Given the description of an element on the screen output the (x, y) to click on. 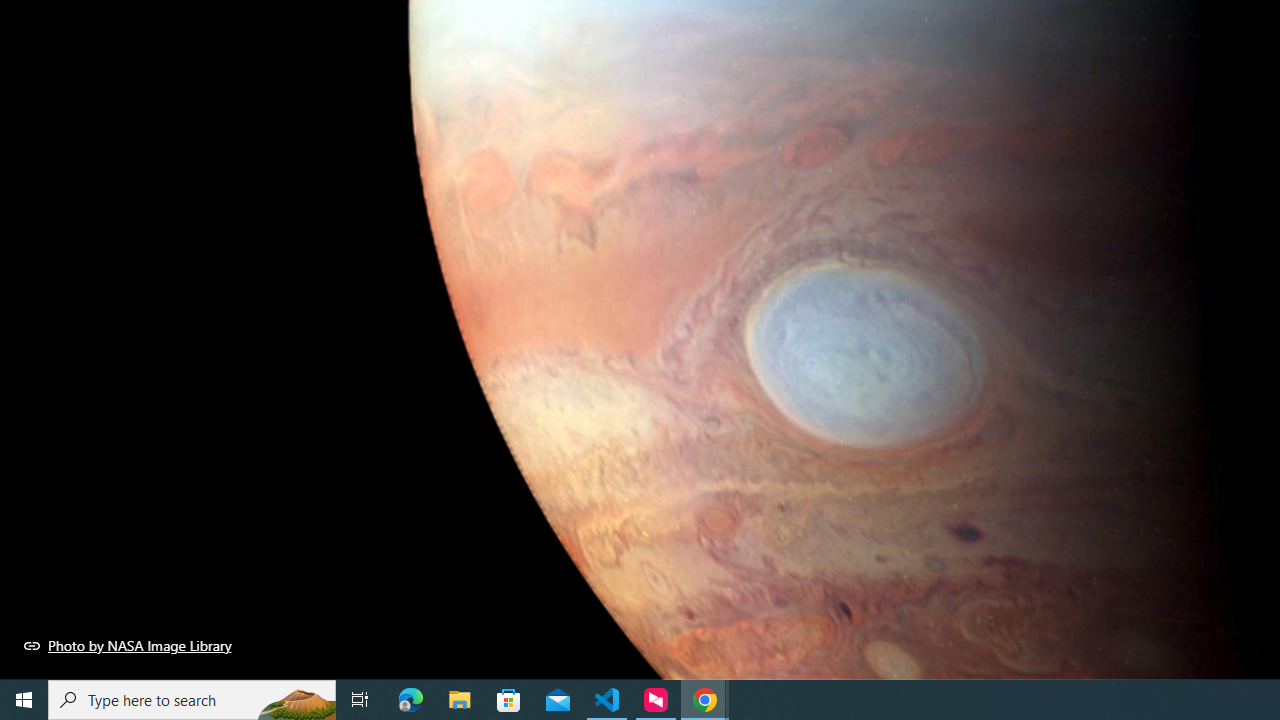
Photo by NASA Image Library (127, 645)
